Given the description of an element on the screen output the (x, y) to click on. 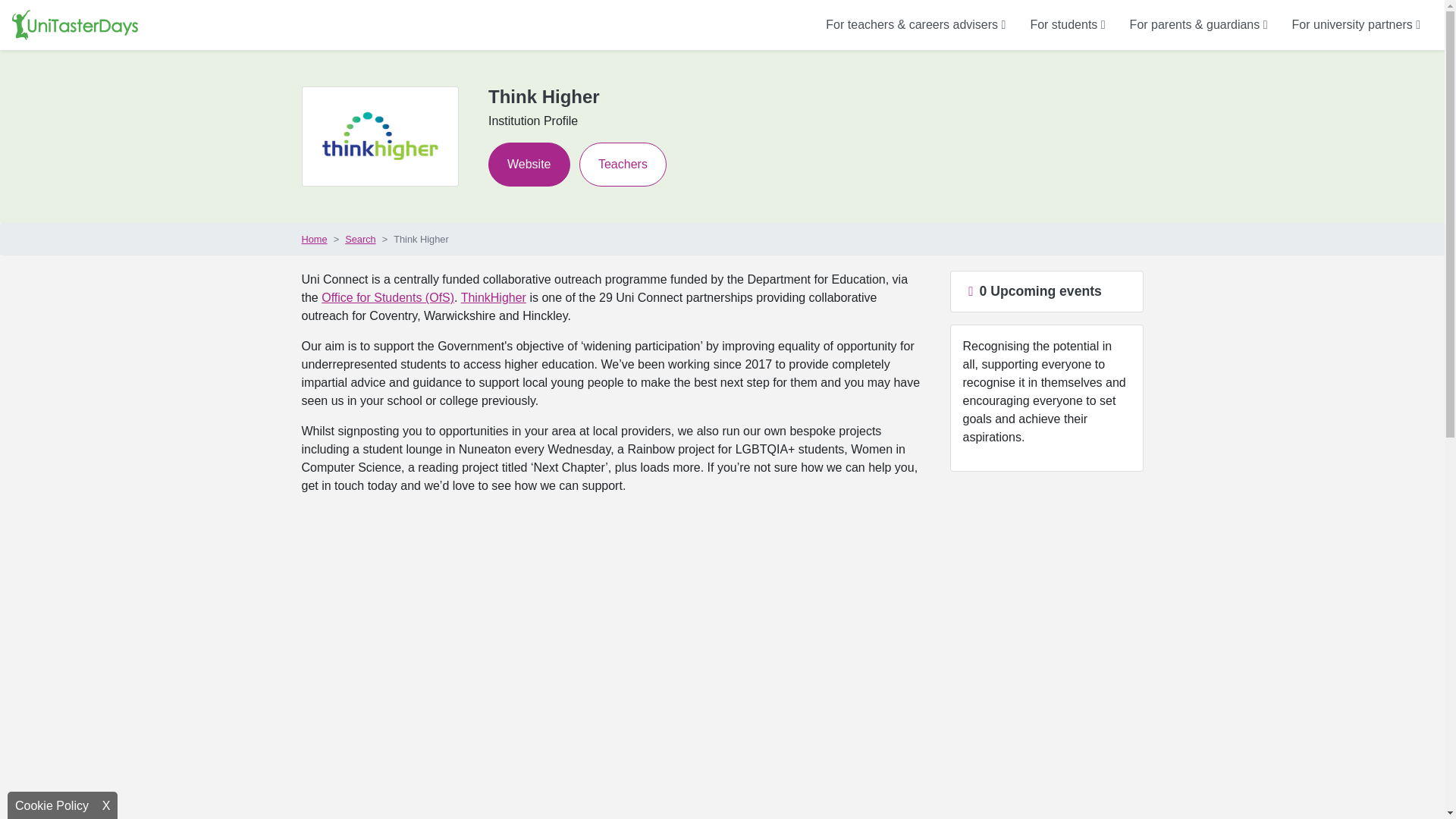
For university partners (1355, 24)
Teachers (622, 164)
Website (528, 164)
Home (314, 238)
For students (1066, 24)
